Given the description of an element on the screen output the (x, y) to click on. 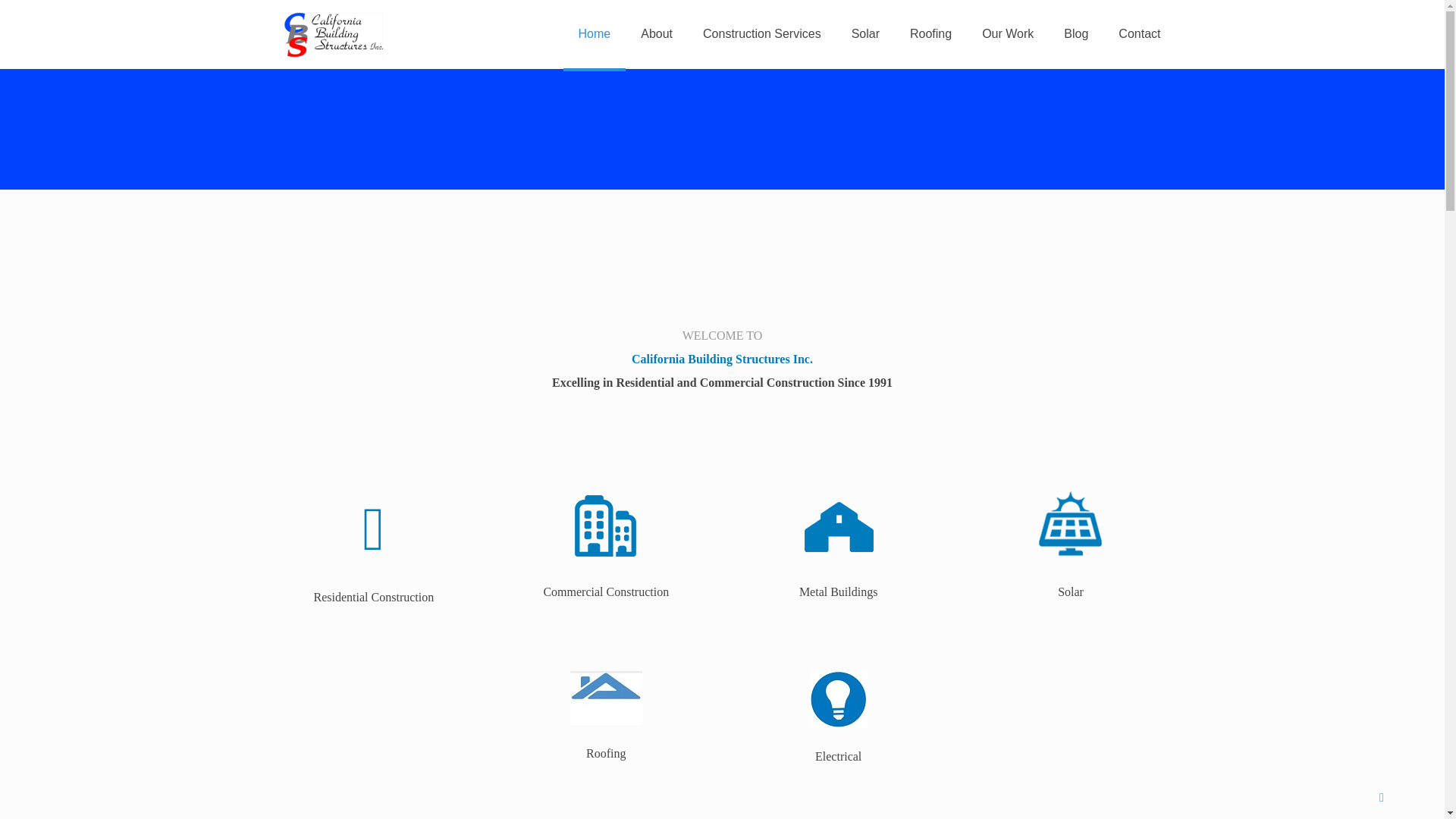
Home (594, 33)
Solar (1070, 541)
California Building Structures (332, 33)
Construction Services (761, 33)
Contact (1138, 33)
Electrical (837, 714)
Commercial Construction (605, 554)
Our Work (1007, 33)
Roofing (930, 33)
Residential Construction (374, 557)
Roofing (605, 713)
About (656, 33)
Metal Buildings (837, 554)
